Given the description of an element on the screen output the (x, y) to click on. 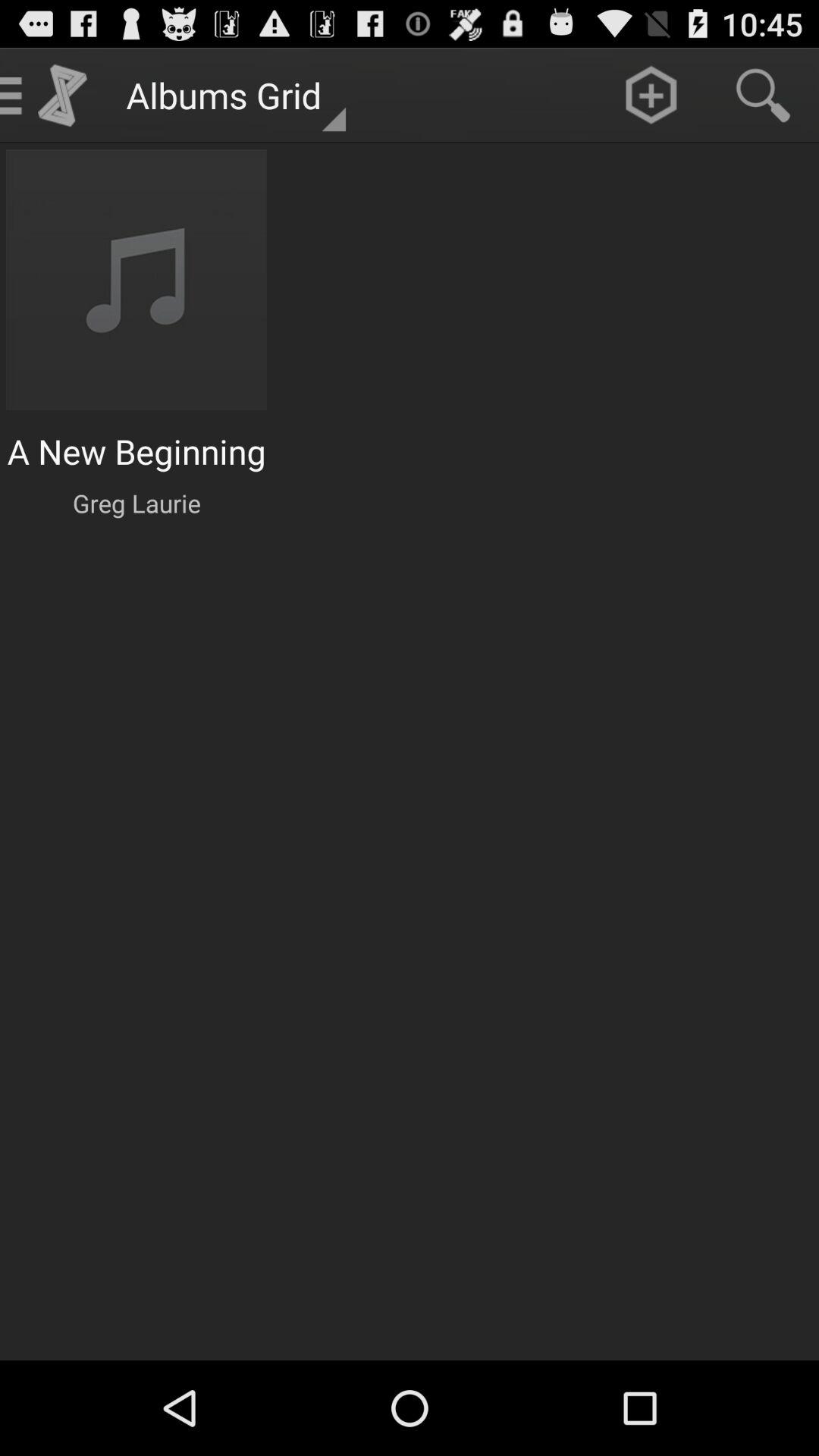
click to search option (763, 95)
